Given the description of an element on the screen output the (x, y) to click on. 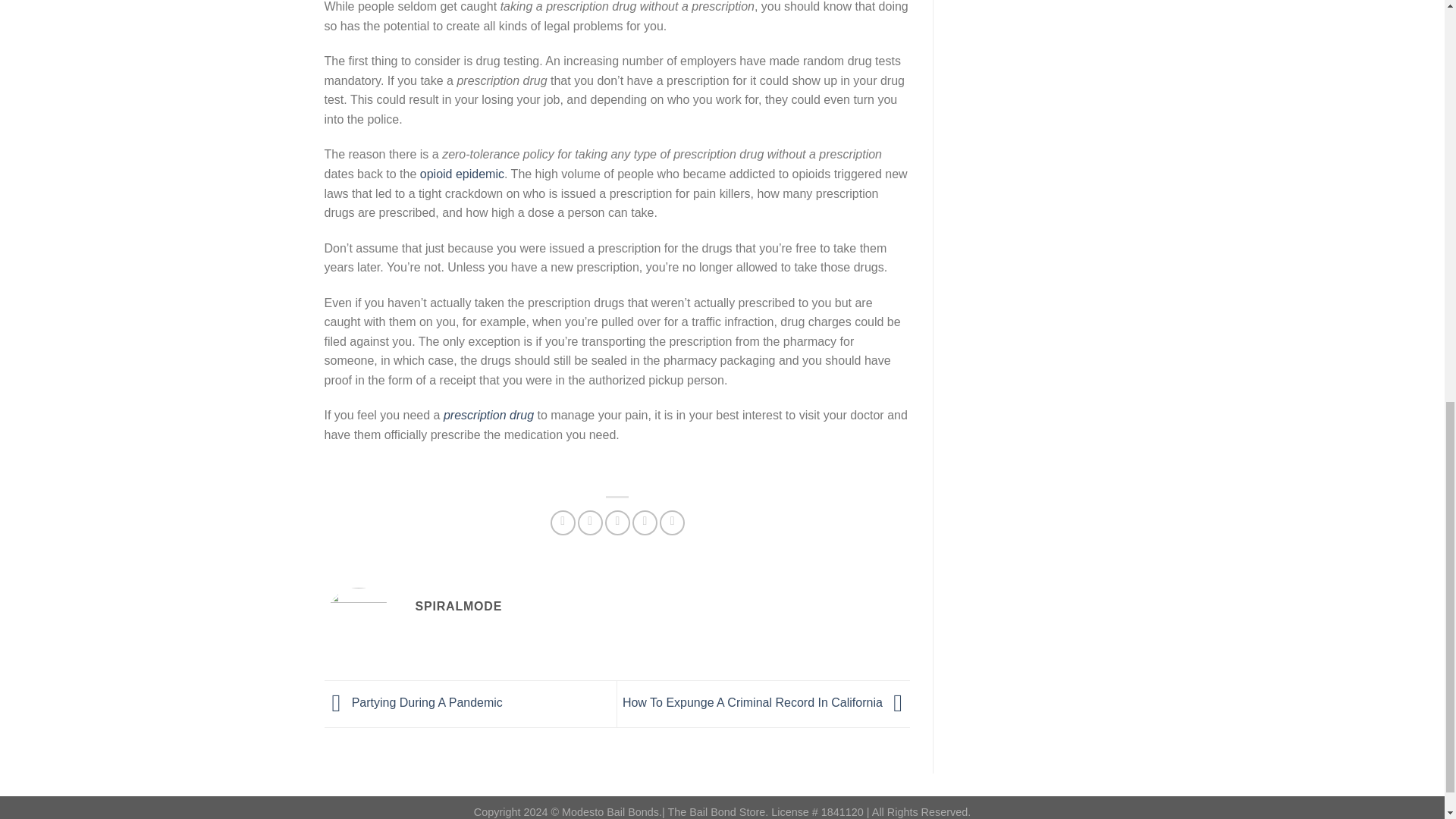
Email to a Friend (617, 522)
How To Expunge A Criminal Record In California (766, 702)
Pin on Pinterest (644, 522)
opioid epidemic (461, 173)
prescription drug (489, 414)
Share on LinkedIn (671, 522)
Partying During A Pandemic (413, 702)
Commonly Broken California Laws (489, 414)
Share on Facebook (562, 522)
Share on Twitter (590, 522)
